Given the description of an element on the screen output the (x, y) to click on. 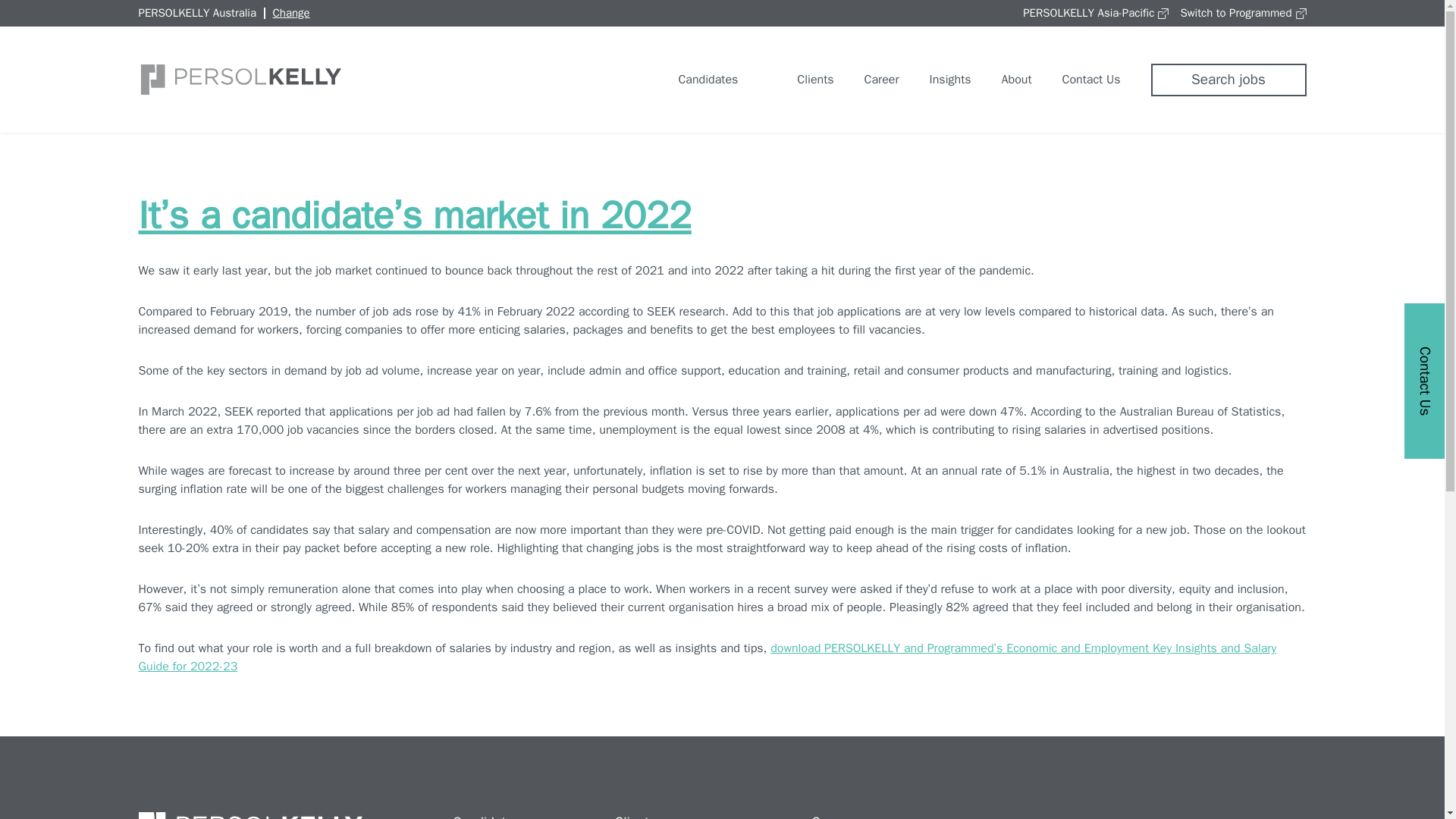
PERSOLKELLY Australia (197, 12)
Switch to Programmed (1242, 12)
Candidates (693, 78)
Clients (800, 78)
Career (881, 79)
PERSOLKELLY Asia-Pacific (1096, 12)
Change (291, 12)
